Given the description of an element on the screen output the (x, y) to click on. 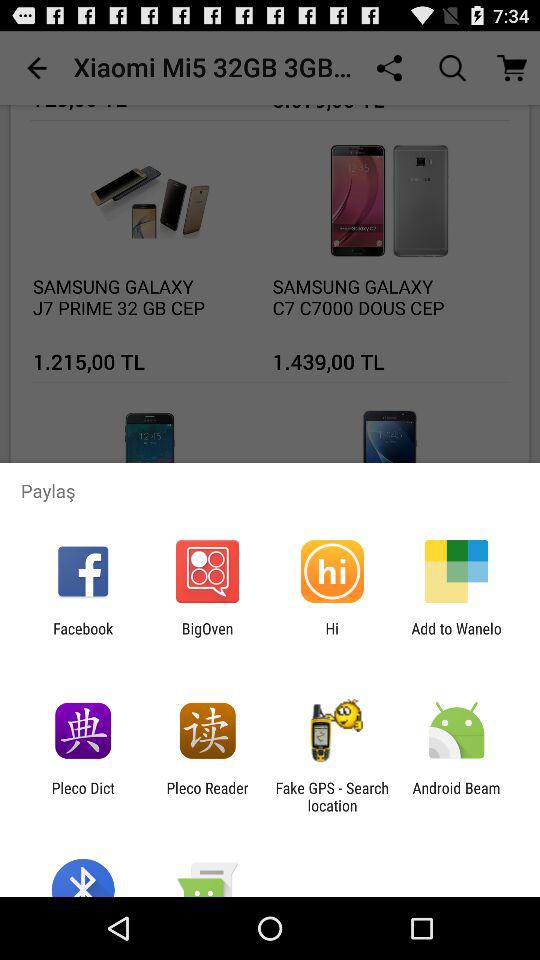
press the pleco dict (82, 796)
